Given the description of an element on the screen output the (x, y) to click on. 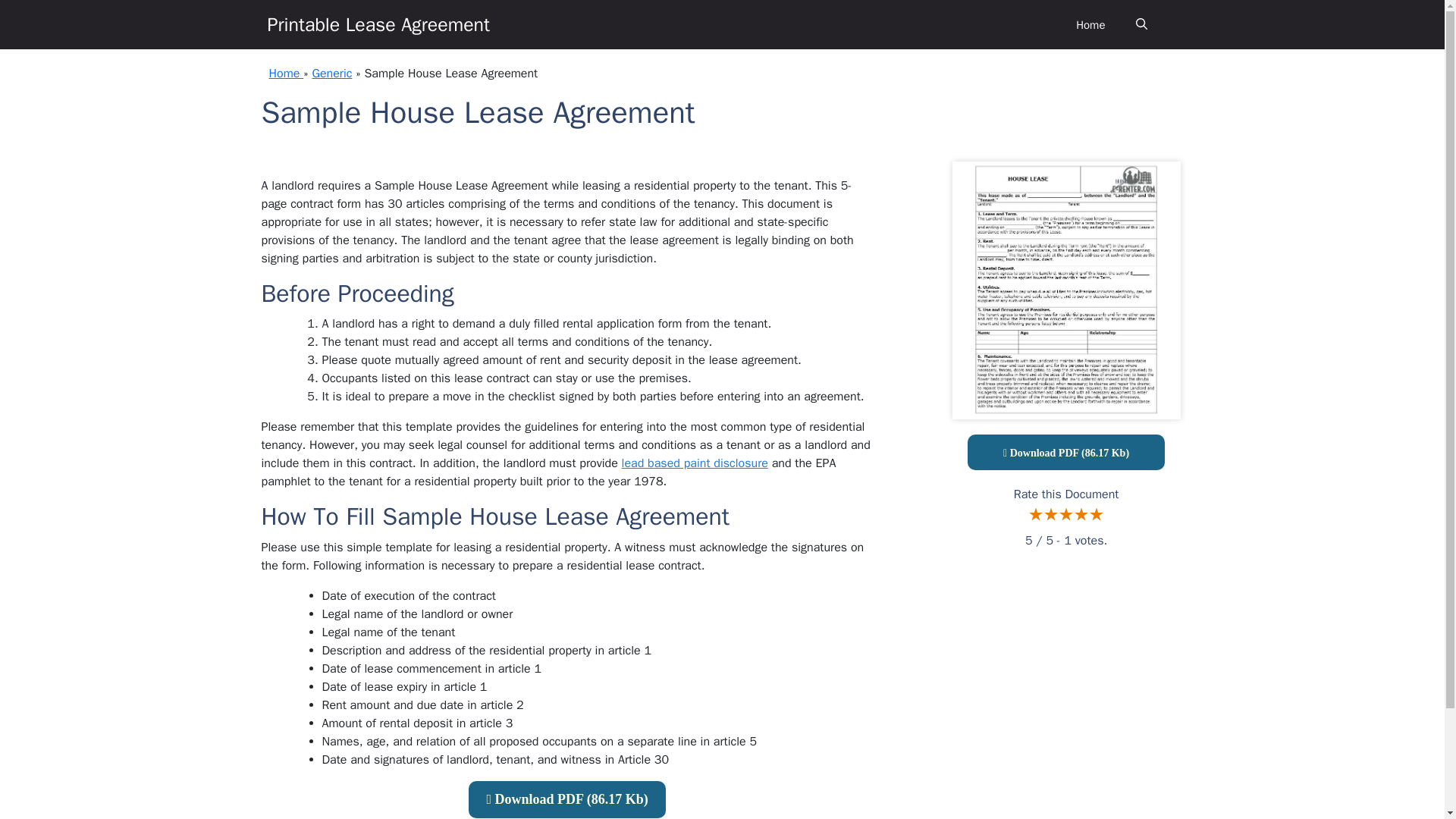
Home (1090, 23)
lead based paint disclosure (694, 462)
Home (284, 73)
Generic (331, 73)
Printable Lease Agreement (377, 24)
